Given the description of an element on the screen output the (x, y) to click on. 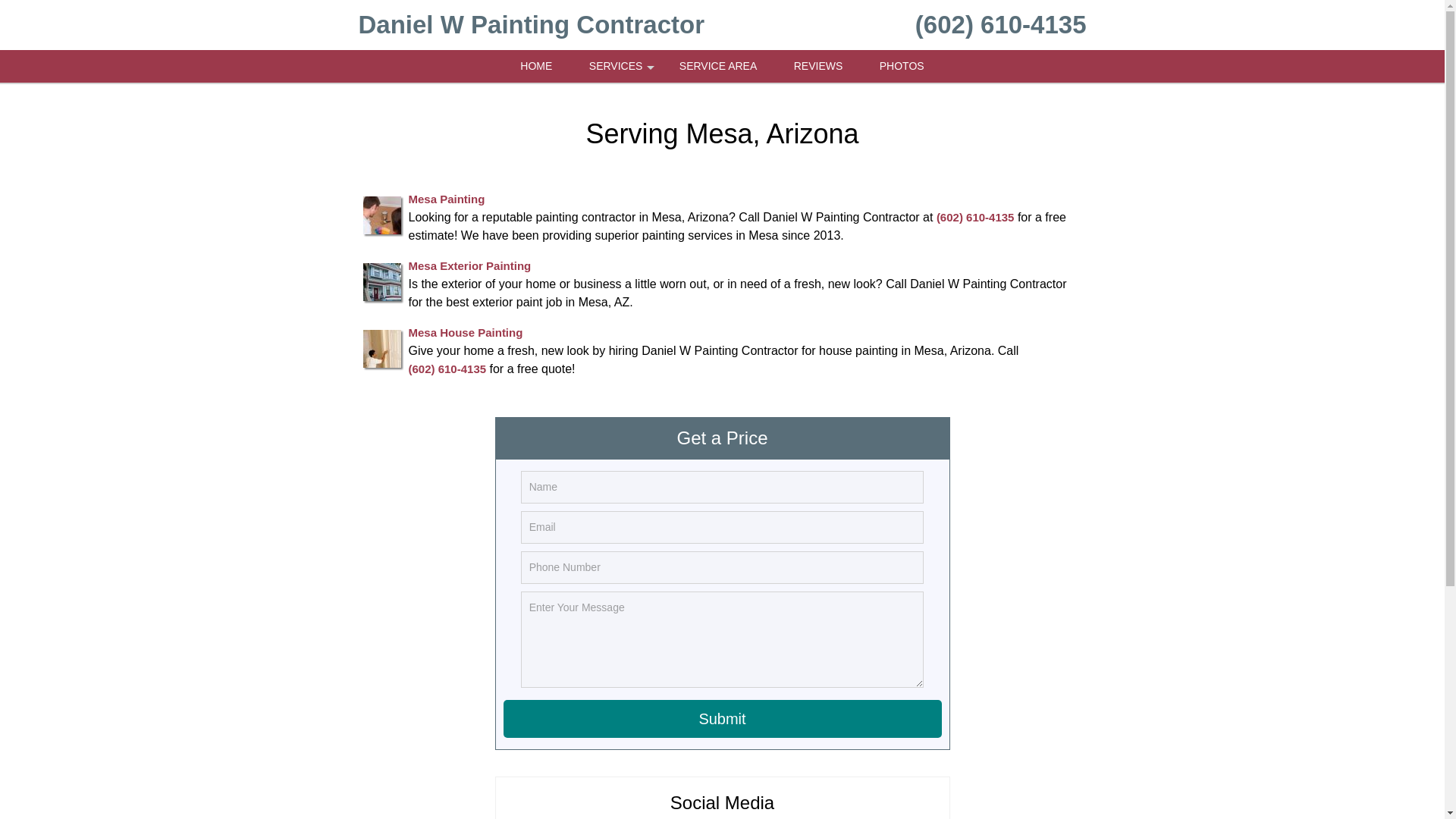
PHOTOS (901, 65)
HOME (536, 65)
Mesa Painting (445, 198)
Mesa Exterior Painting (469, 265)
Submit (722, 718)
SERVICE AREA (717, 65)
Mesa House Painting (464, 332)
REVIEWS (818, 65)
